Given the description of an element on the screen output the (x, y) to click on. 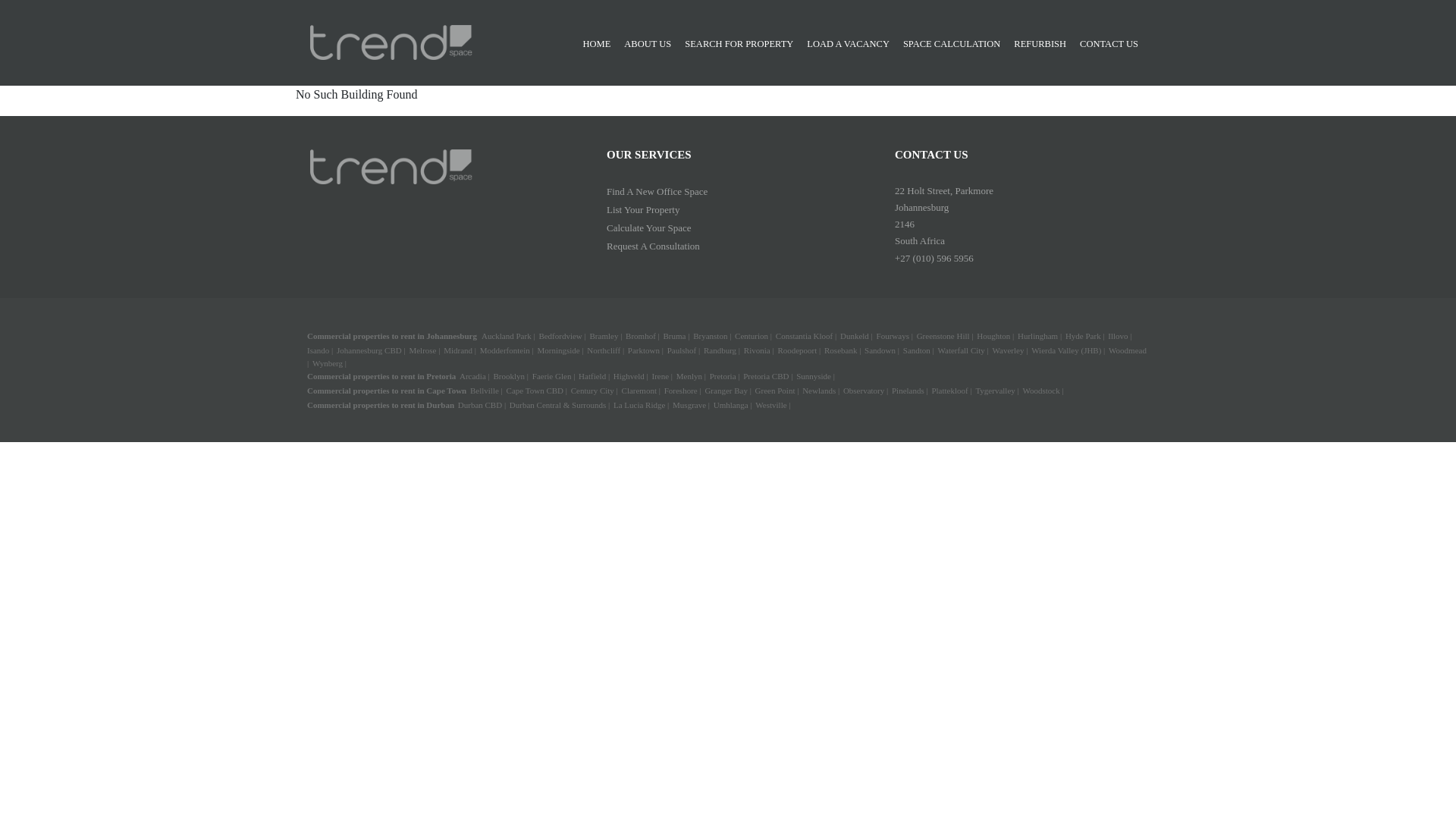
REFURBISH (1045, 43)
Trend Space - Find a new office space (657, 190)
SPACE CALCULATION (956, 43)
Calculate Your Space (649, 228)
Offices to let : Offices for rent : Trend space (391, 42)
Trend Space - List your property (643, 209)
List Your Property (643, 209)
Offices to let : Offices for rent : Trend space (391, 167)
HOME (602, 43)
LOAD A VACANCY (852, 43)
Johannesburg (452, 335)
CONTACT US (1114, 43)
ABOUT US (652, 43)
Request A Consultation (653, 246)
Find A New Office Space (657, 190)
